Given the description of an element on the screen output the (x, y) to click on. 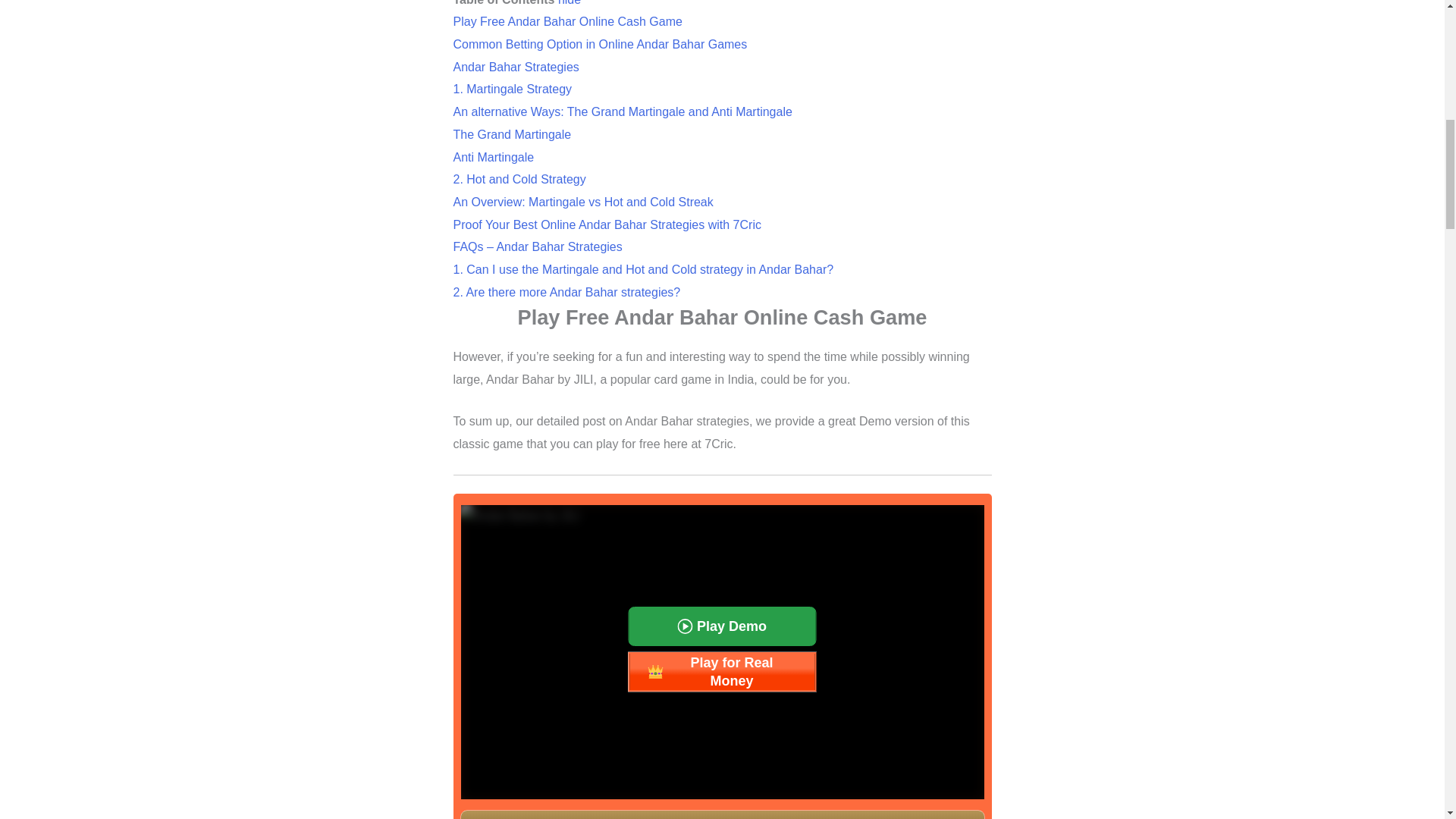
Anti Martingale (493, 156)
Play Free Andar Bahar Online Cash Game (567, 21)
2. Hot and Cold Strategy (519, 178)
Play Demo Andar Bahar by JILI (721, 626)
1. Martingale Strategy (512, 88)
2. Are there more Andar Bahar strategies? (566, 291)
Play Andar Bahar by JILI for Real Money (721, 671)
An Overview: Martingale vs Hot and Cold Streak (582, 201)
The Grand Martingale (512, 133)
hide (568, 2)
Common Betting Option in Online Andar Bahar Games (600, 43)
Andar Bahar Strategies (515, 66)
Play Demo (721, 626)
